Given the description of an element on the screen output the (x, y) to click on. 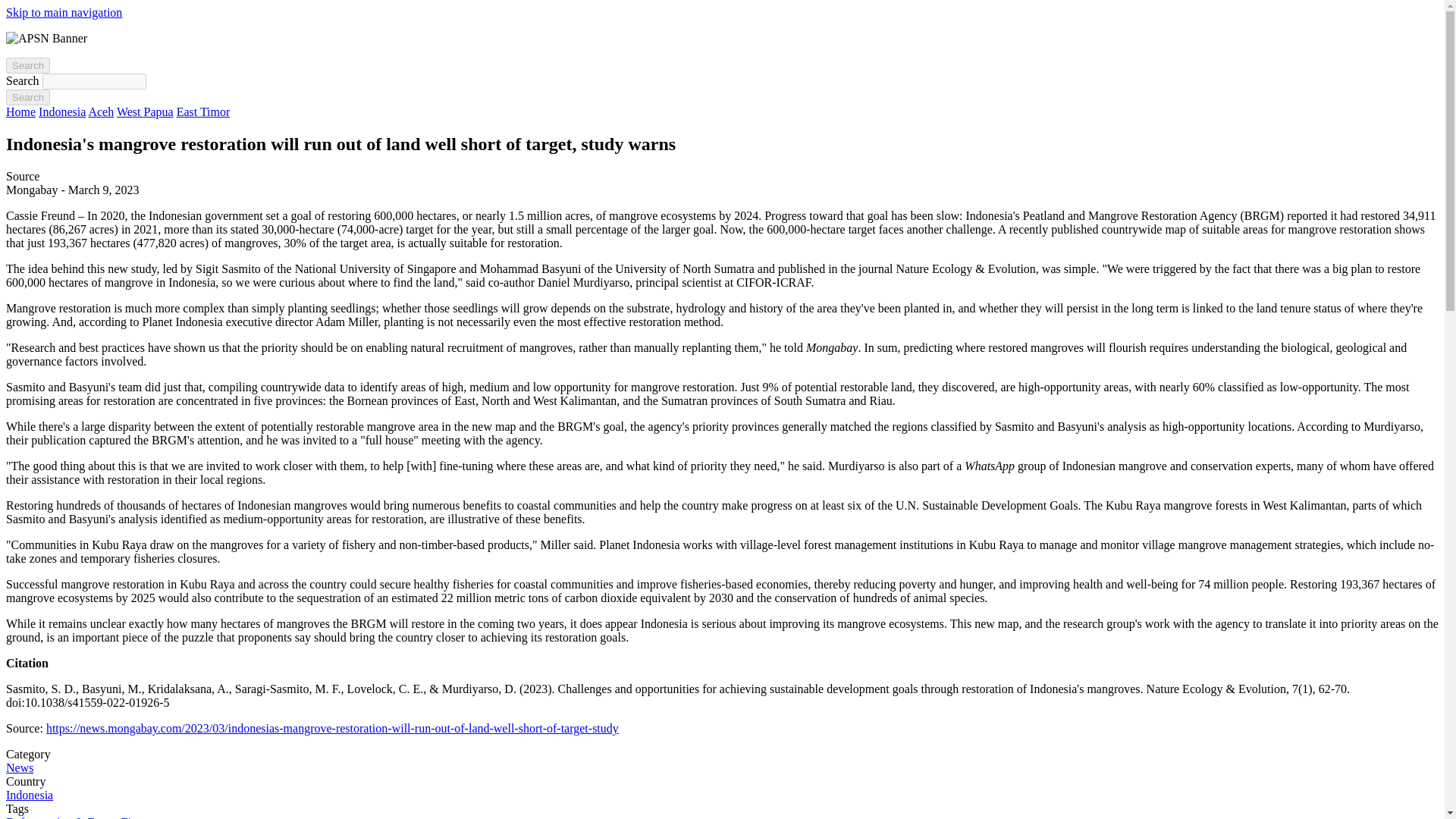
Search (27, 65)
Search (27, 97)
Indonesia (28, 794)
Enter the terms you wish to search for. (94, 81)
West Papua (144, 111)
Indonesia (62, 111)
Aceh (100, 111)
East Timor (203, 111)
Search (27, 97)
Search this site (27, 65)
News (19, 767)
Home (19, 111)
Skip to main navigation (63, 11)
